Given the description of an element on the screen output the (x, y) to click on. 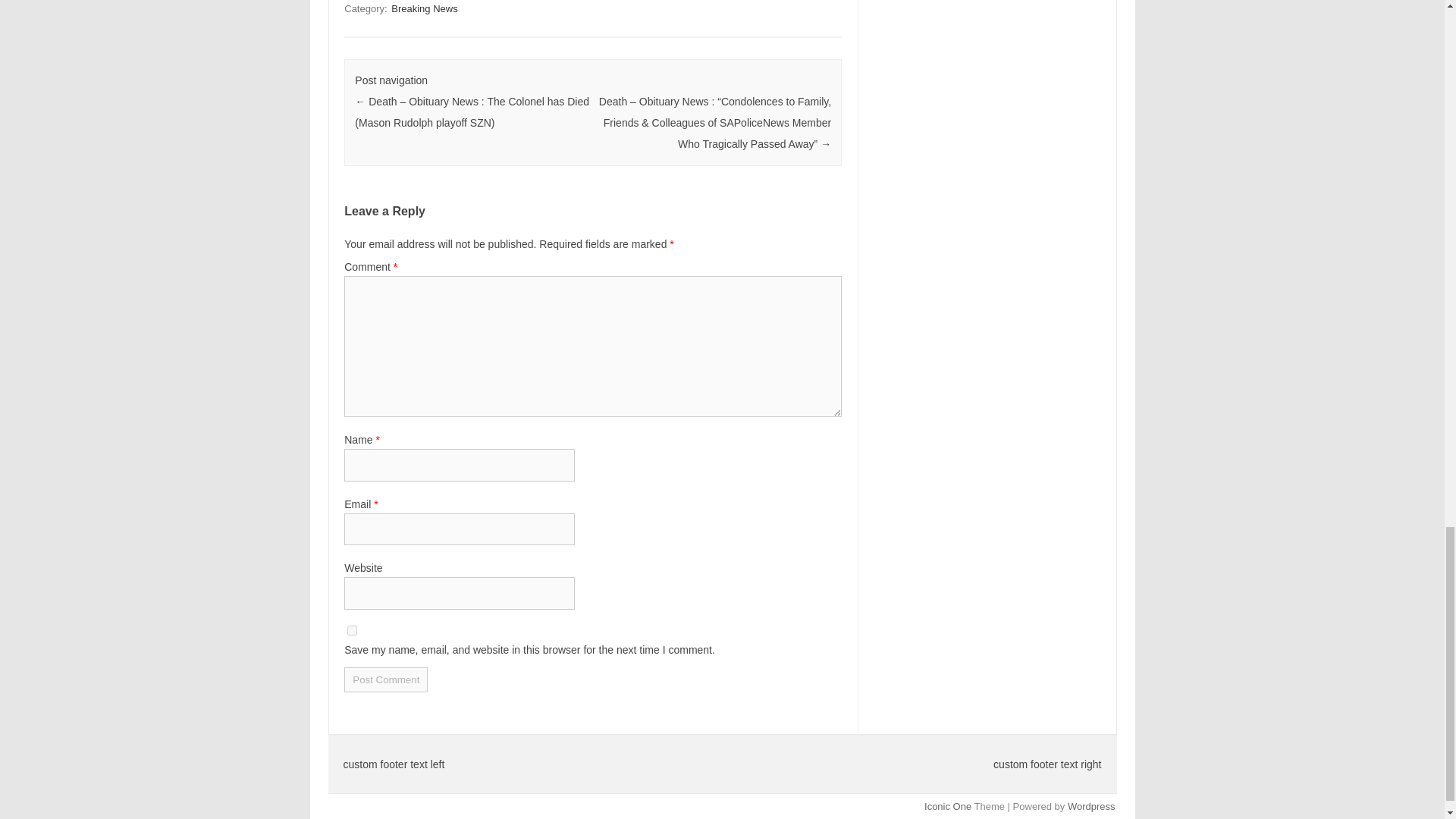
Iconic One (947, 806)
Breaking News (424, 8)
Post Comment (385, 679)
yes (351, 630)
Post Comment (385, 679)
Wordpress (1091, 806)
